Given the description of an element on the screen output the (x, y) to click on. 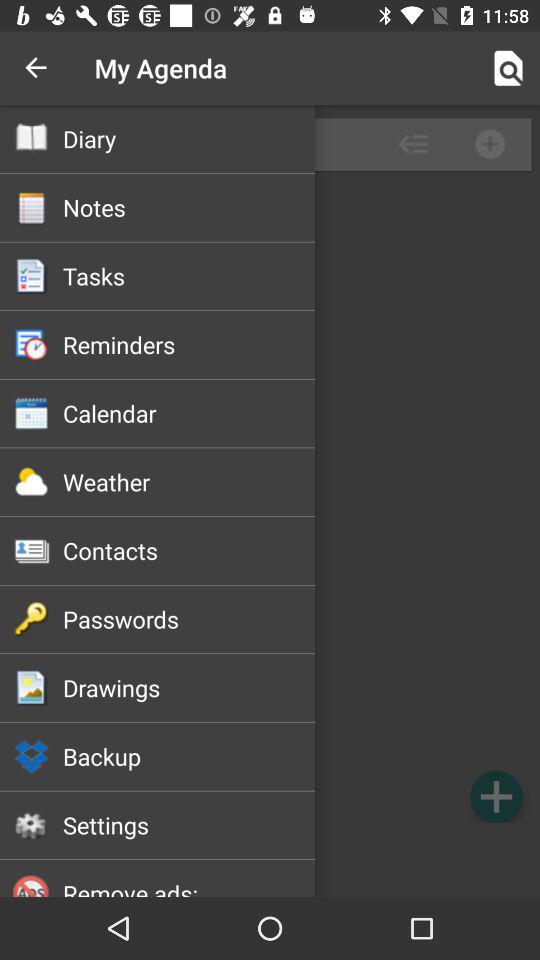
add event (496, 796)
